Given the description of an element on the screen output the (x, y) to click on. 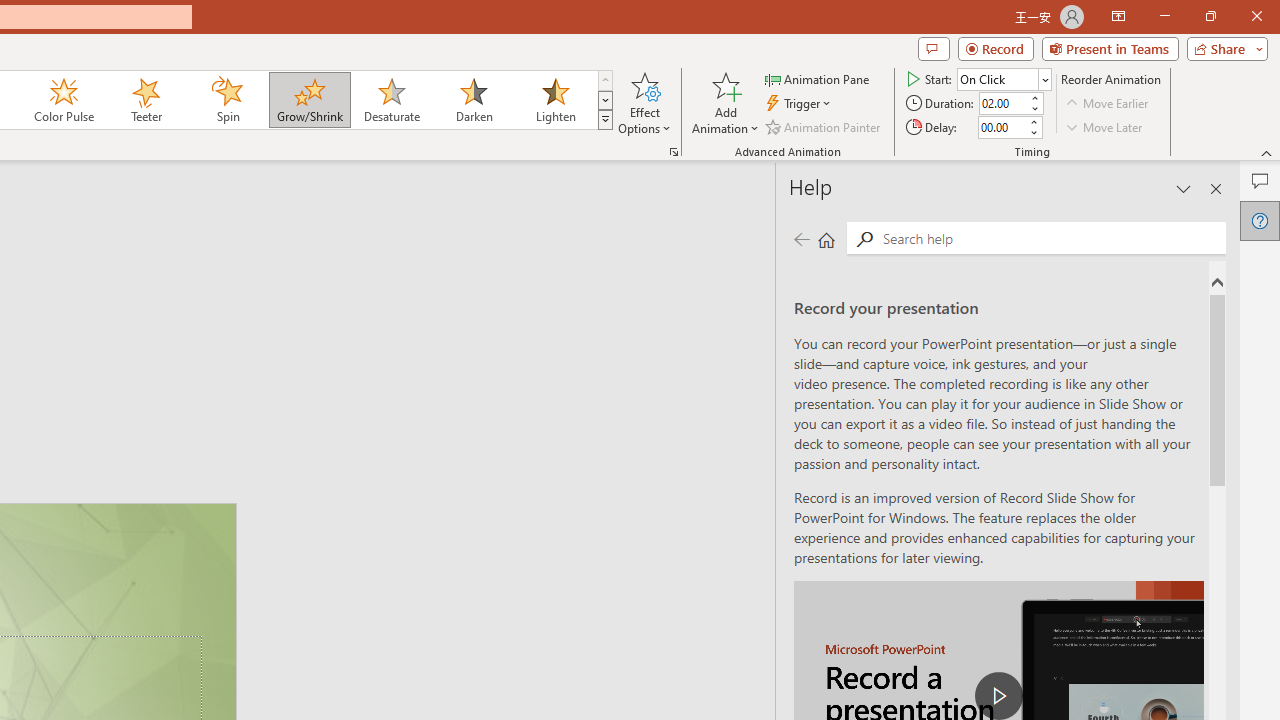
Animation Delay (1002, 127)
Animation Duration (1003, 103)
Trigger (799, 103)
Lighten (555, 100)
Move Later (1105, 126)
Add Animation (725, 102)
